Given the description of an element on the screen output the (x, y) to click on. 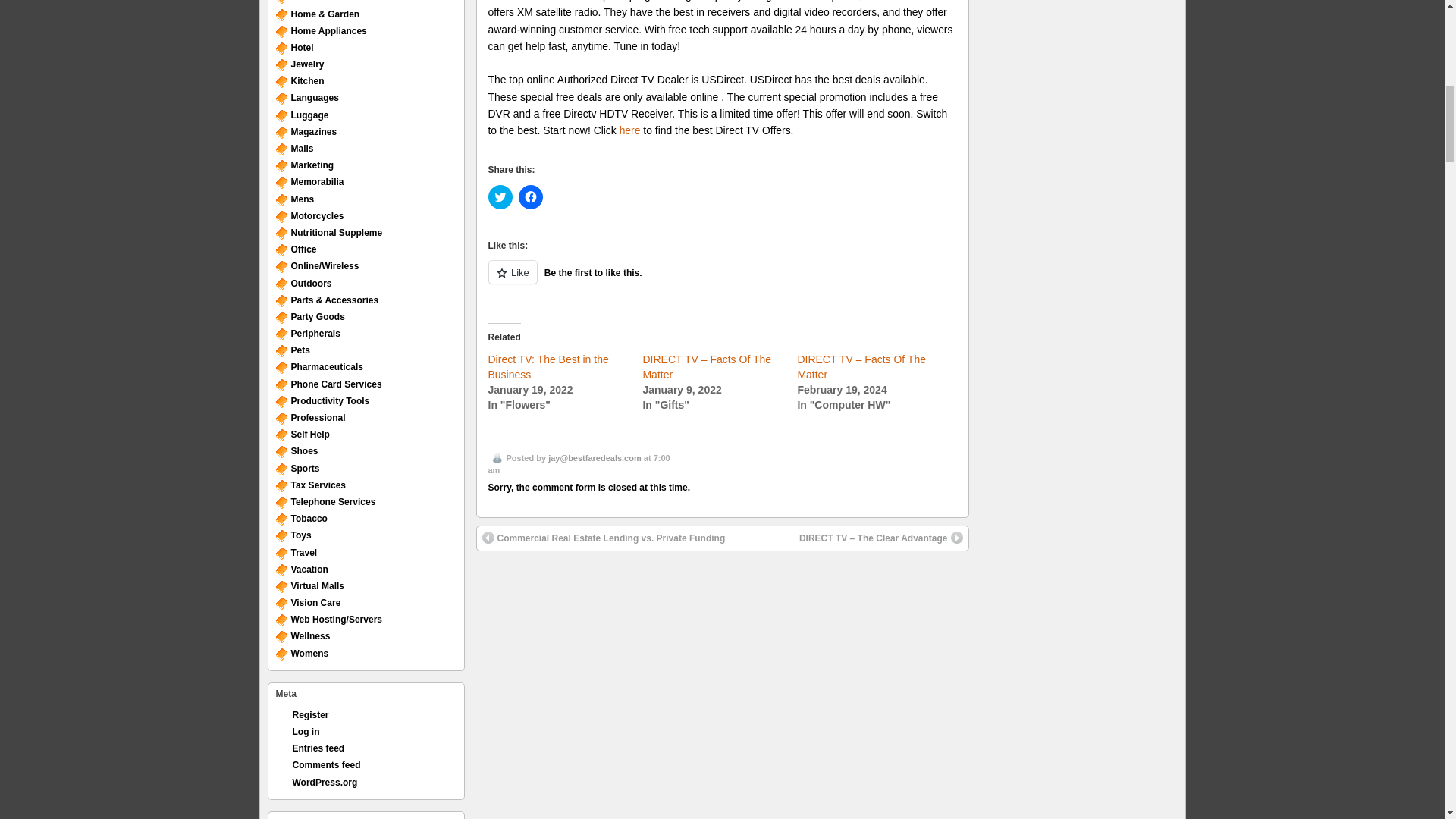
Direct TV: The Best in the Business (547, 366)
Click to share on Facebook (530, 197)
Click to share on Twitter (499, 197)
here (630, 130)
Direct TV: The Best in the Business (547, 366)
Like or Reblog (721, 281)
  Commercial Real Estate Lending vs. Private Funding (603, 538)
